Given the description of an element on the screen output the (x, y) to click on. 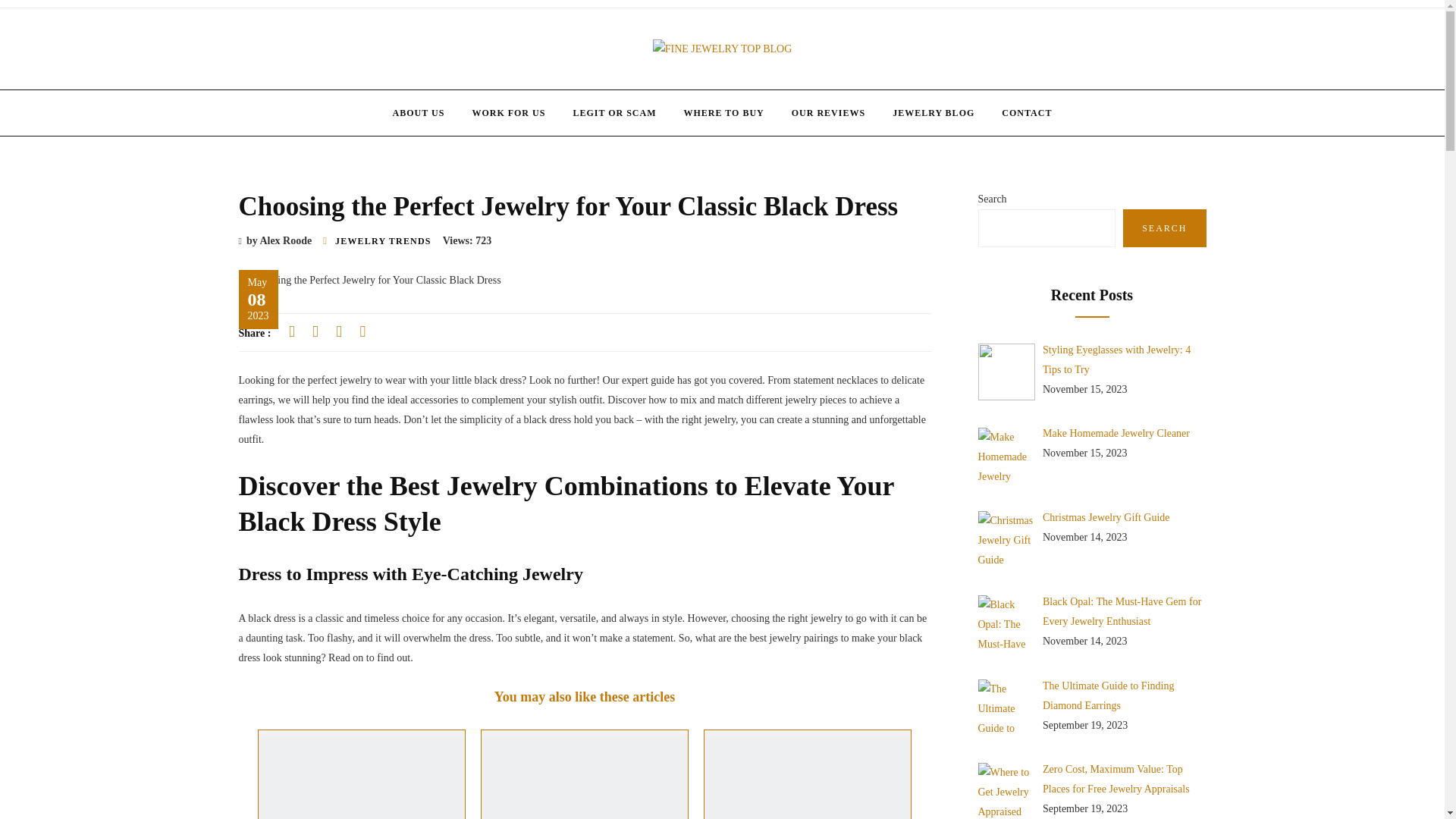
JEWELRY TRENDS (382, 240)
OUR REVIEWS (828, 112)
Alex Roode (285, 240)
10 Interesting Facts About Gold Jewelry (807, 778)
JEWELRY BLOG (933, 112)
ABOUT US (418, 112)
Posts by Alex Roode (285, 240)
How to photograph jewelry on models (361, 778)
LEGIT OR SCAM (614, 112)
5 Affordable Ways to Remove Green Tarnish from Your Jewelry (584, 778)
WHERE TO BUY (723, 112)
CONTACT (1026, 112)
WORK FOR US (508, 112)
Click to share this post on Twitter (315, 331)
